Given the description of an element on the screen output the (x, y) to click on. 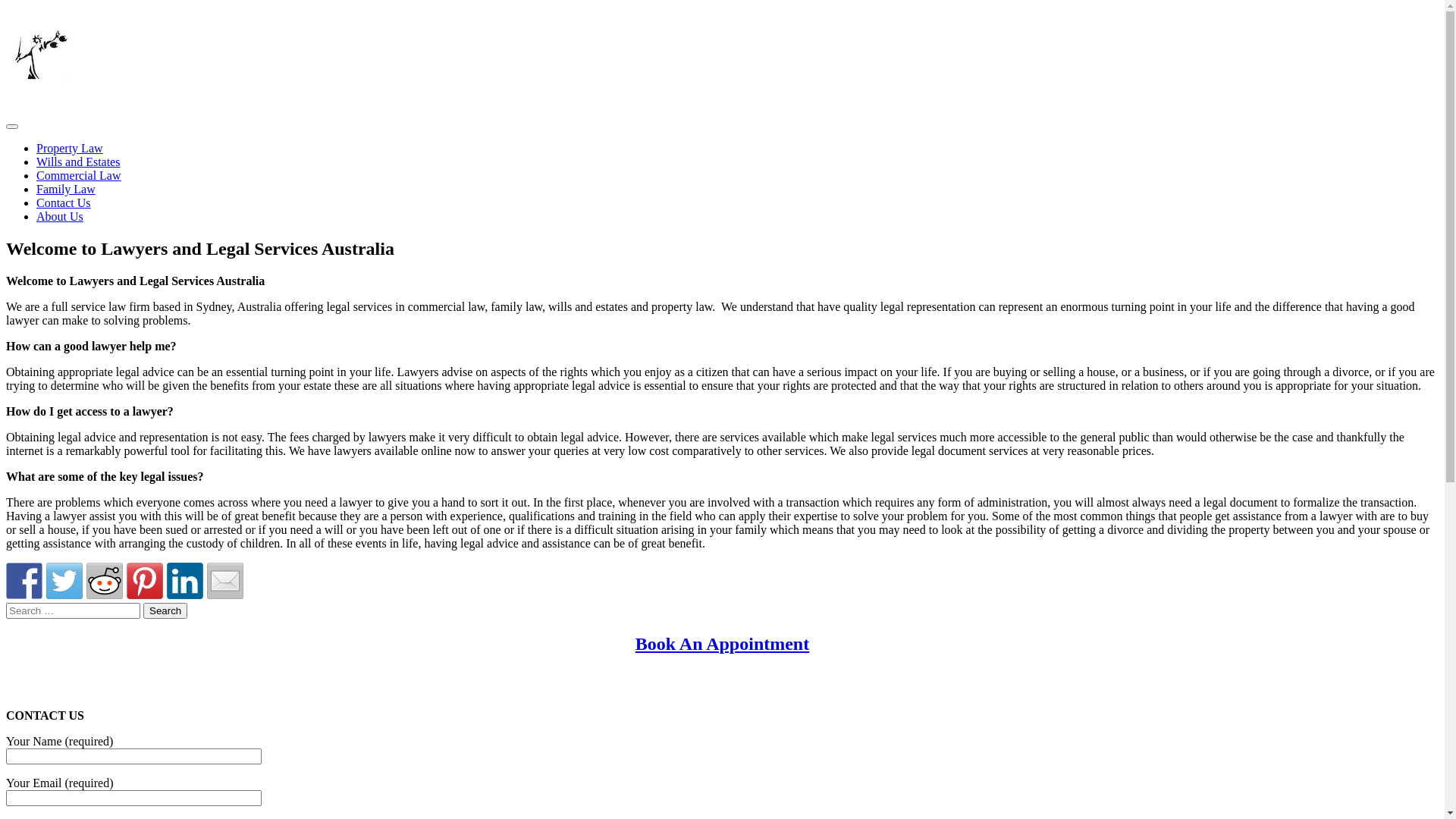
Share on Reddit Element type: hover (104, 580)
Book An Appointment Element type: text (722, 643)
About Us Element type: text (59, 216)
Share on Twitter Element type: hover (64, 580)
Family Law Element type: text (65, 188)
Share by email Element type: hover (225, 580)
Share on Linkedin Element type: hover (184, 580)
Wills and Estates Element type: text (77, 161)
Search Element type: text (165, 610)
Contact Us Element type: text (63, 202)
Property Law Element type: text (69, 147)
Commercial Law Element type: text (78, 175)
Share on Facebook Element type: hover (24, 580)
link Element type: hover (43, 84)
Pin it with Pinterest Element type: hover (144, 580)
Skip to content Element type: text (5, 15)
